Given the description of an element on the screen output the (x, y) to click on. 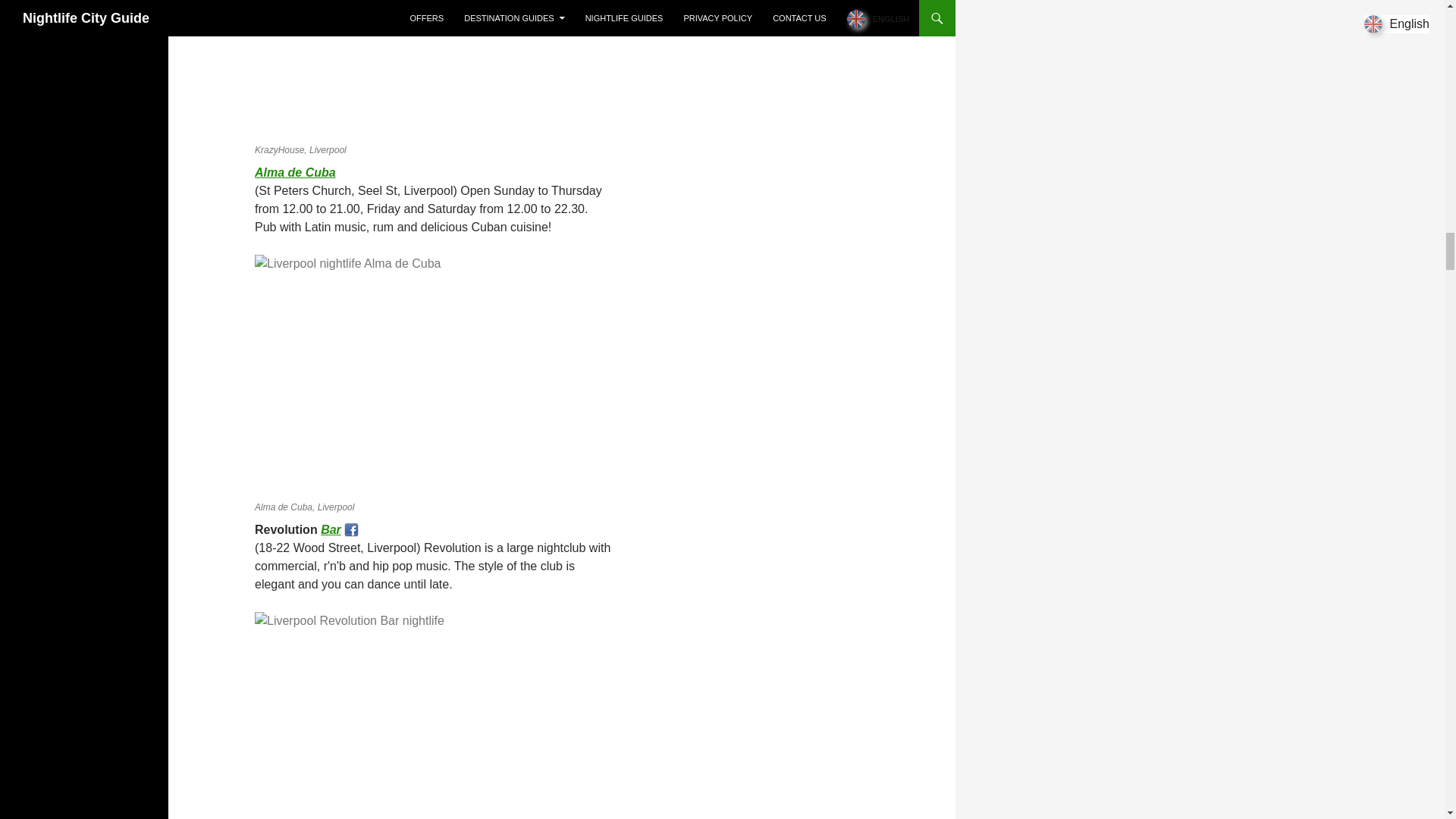
Liverpool nightlife Alma de Cuba (295, 172)
